Given the description of an element on the screen output the (x, y) to click on. 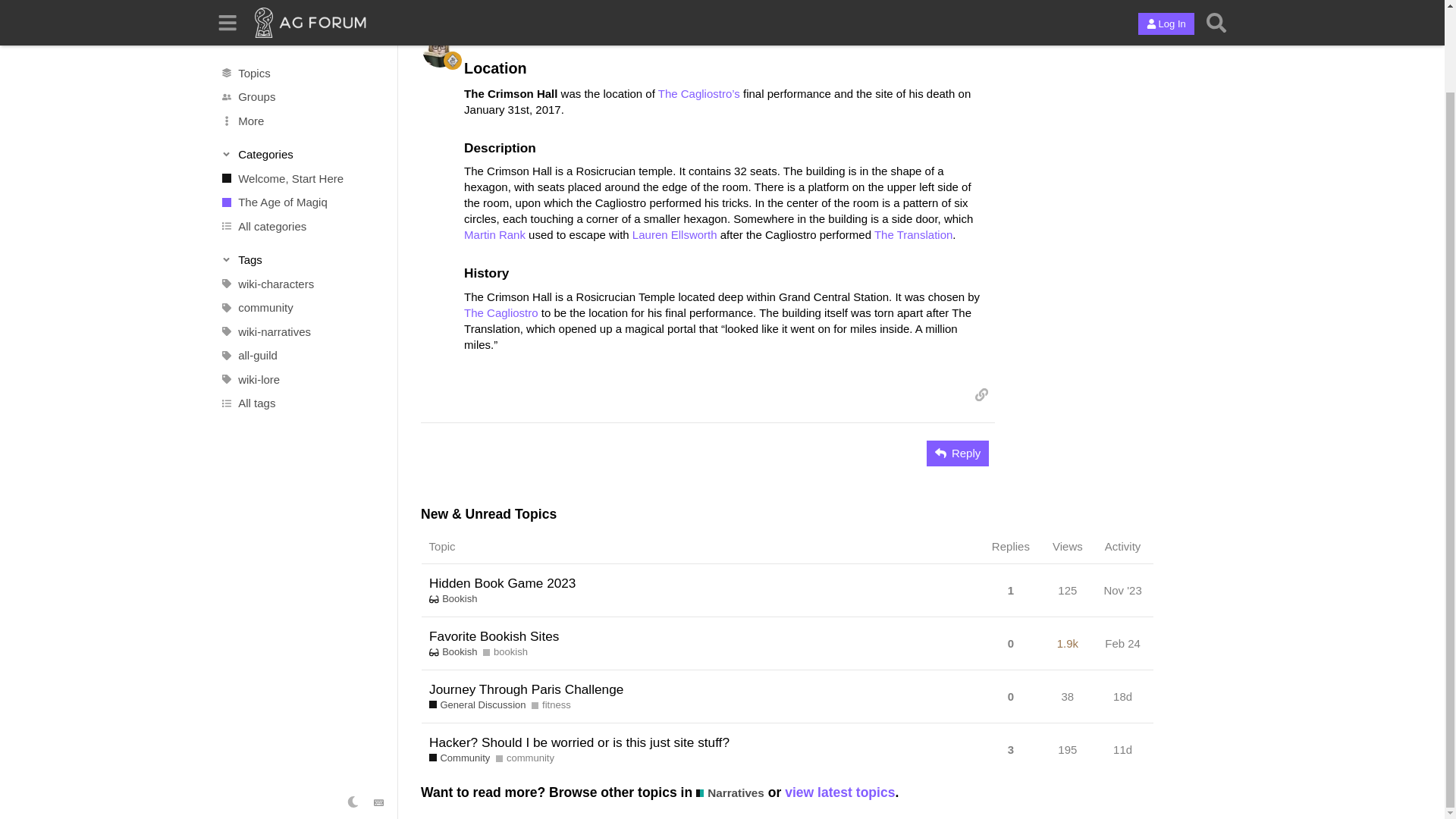
Keyboard Shortcuts (378, 710)
wiki-characters (301, 191)
2 (928, 37)
Categories (301, 61)
The Briar Archive Wiki (474, 3)
All tags (301, 310)
The Cagliostro (501, 312)
Tags (301, 167)
all-guild (301, 262)
